Given the description of an element on the screen output the (x, y) to click on. 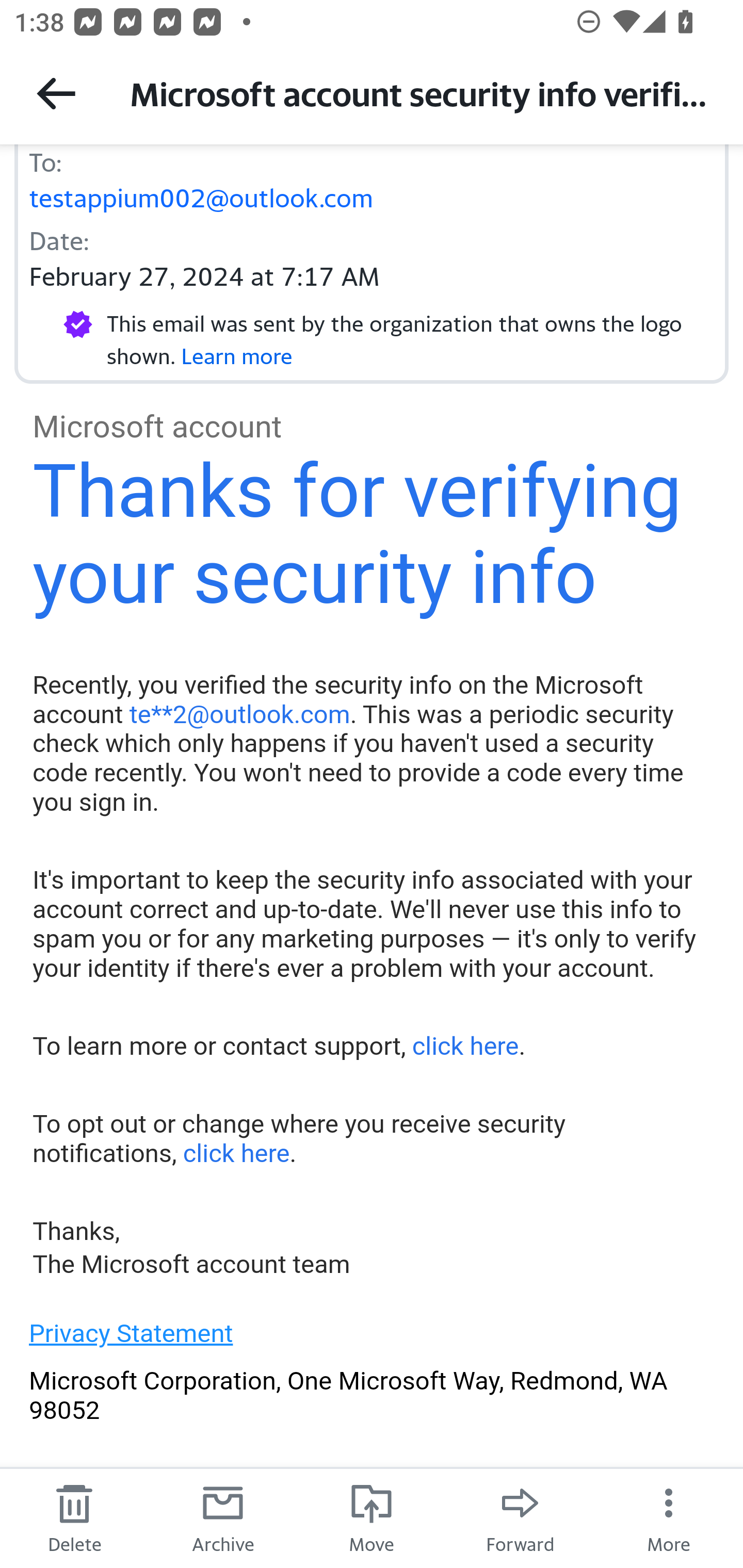
Back (55, 92)
te**2@outlook.com (239, 714)
click here (464, 1046)
click here (235, 1153)
Privacy Statement (131, 1332)
Delete (74, 1517)
Archive (222, 1517)
Move (371, 1517)
Forward (519, 1517)
More (668, 1517)
